Given the description of an element on the screen output the (x, y) to click on. 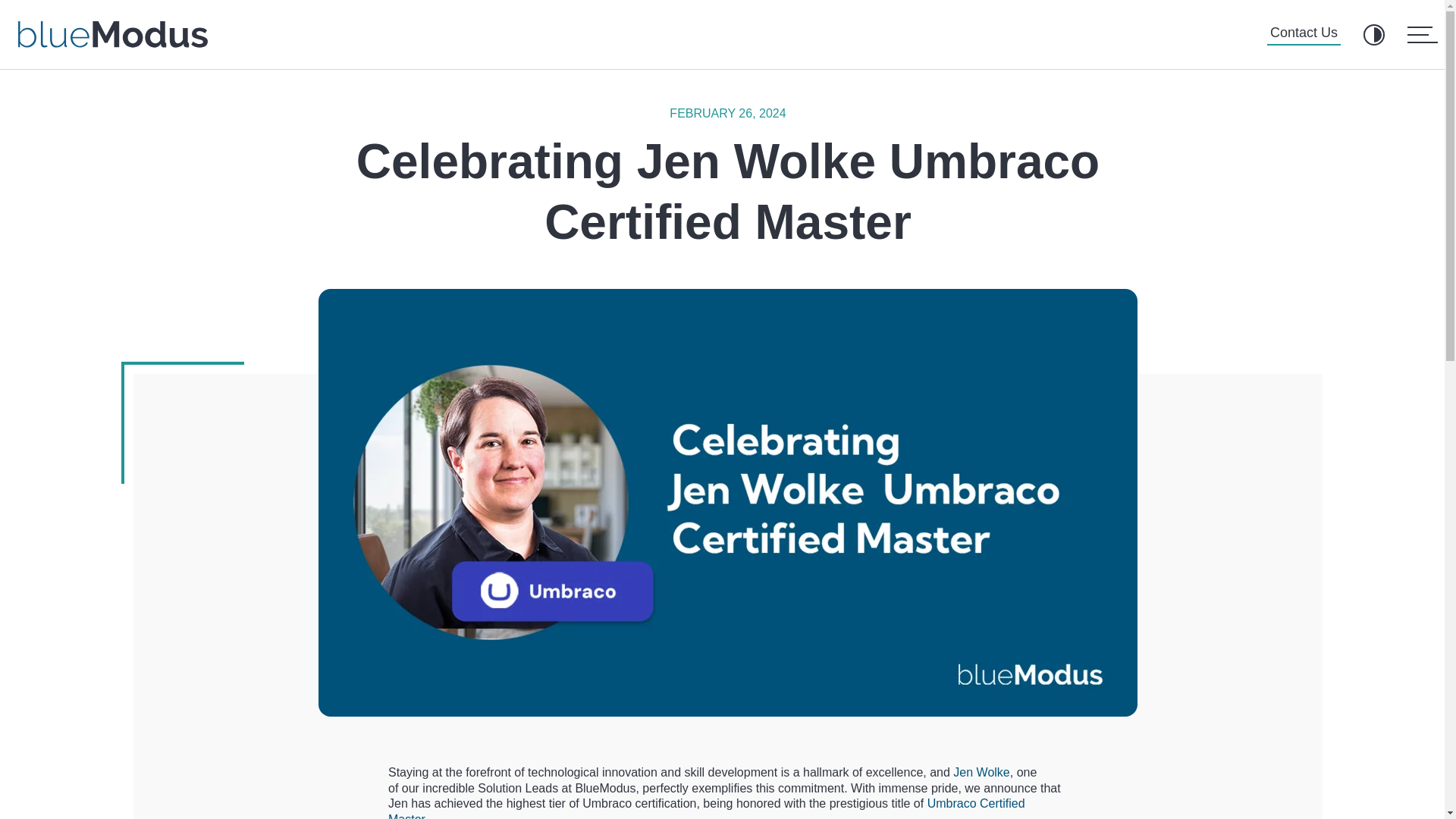
Kentico (1010, 578)
CMS Implementations (1218, 602)
Kontent.ai (1018, 702)
303.759.2100 (98, 716)
303.759.2100 (437, 716)
Sitecore (1013, 652)
Portfolio (854, 627)
Sitefinity (1013, 602)
Team (847, 652)
Umbraco (1016, 627)
